Given the description of an element on the screen output the (x, y) to click on. 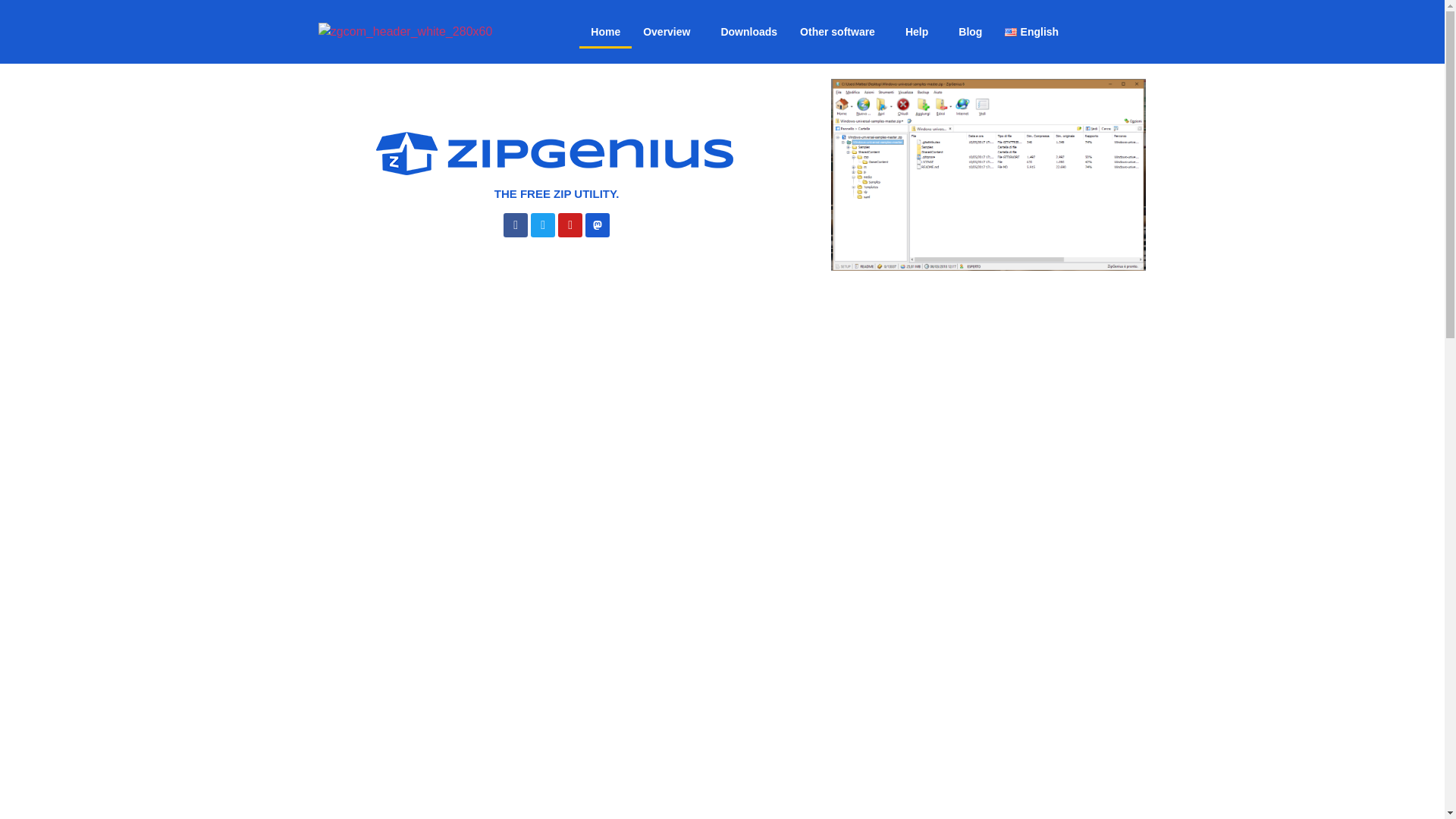
Blog (969, 31)
Other software (841, 31)
Overview (670, 31)
Downloads (749, 31)
Home (605, 31)
Help (920, 31)
English (1034, 31)
